Given the description of an element on the screen output the (x, y) to click on. 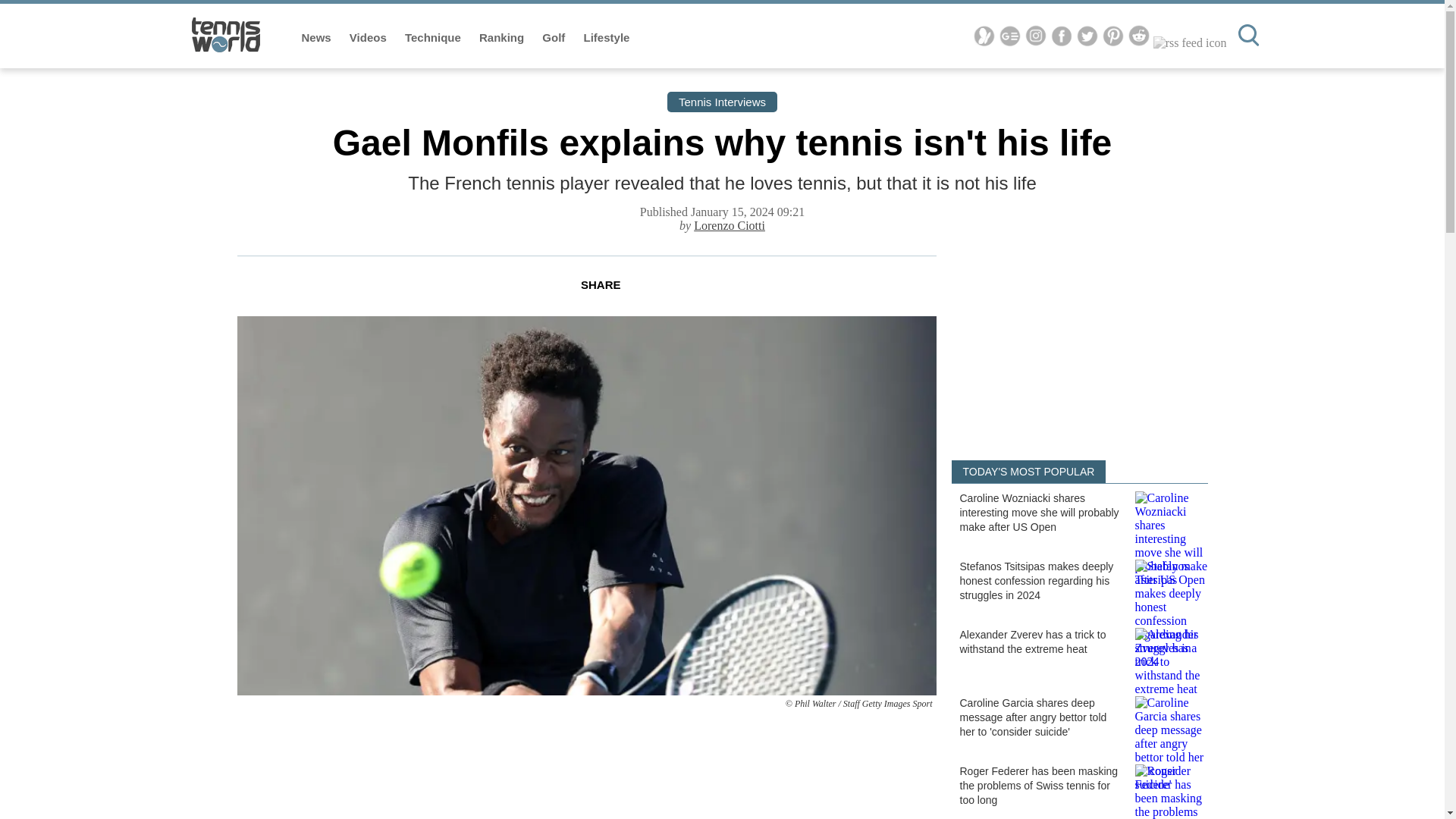
Technique (434, 37)
Golf (554, 37)
Ranking (503, 37)
Lifestyle (606, 37)
News (317, 37)
Videos (369, 37)
